Given the description of an element on the screen output the (x, y) to click on. 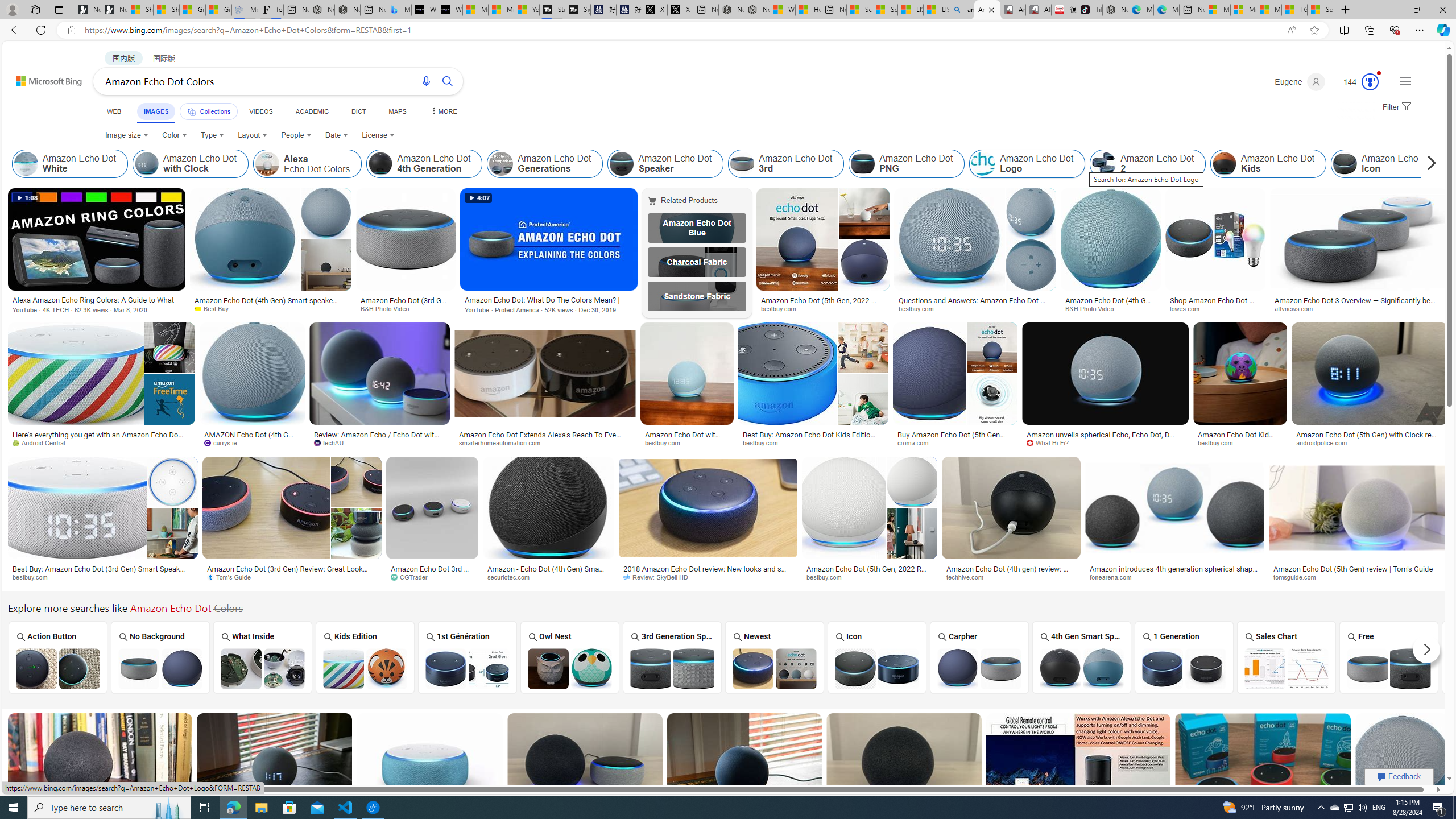
ACADEMIC (311, 111)
Type (212, 135)
Amazon Echo Dot 1 Generation 1 Generation (1184, 656)
Class: medal-svg-animation (1369, 81)
Amazon Echo Dot Speaker (622, 163)
Amazon Echo Dot Carpher (978, 668)
1 Generation (1184, 656)
